Given the description of an element on the screen output the (x, y) to click on. 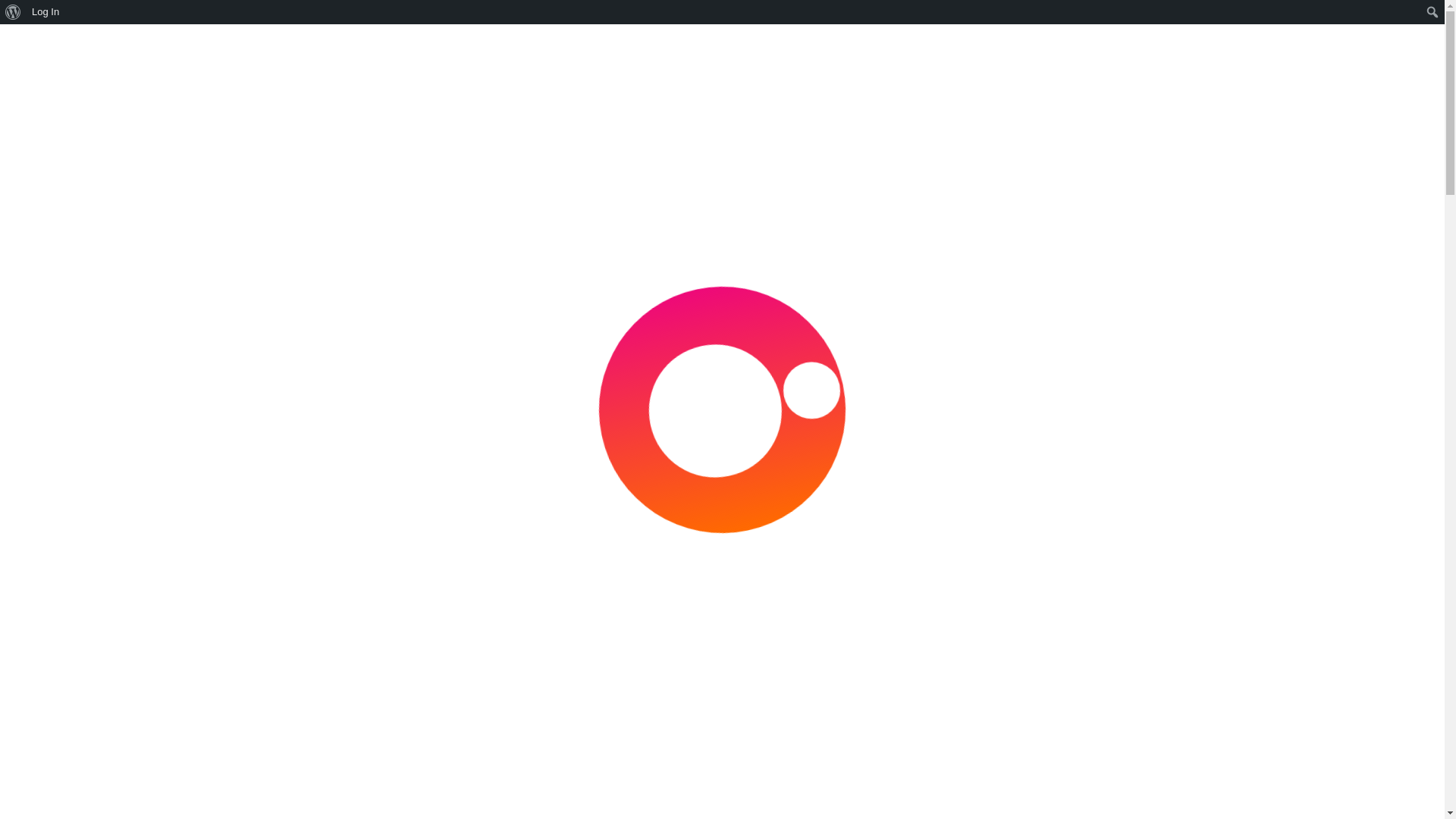
A Potential Disaster in the Emergency Room (354, 386)
Search (15, 12)
Search (797, 409)
FUNNY EXAM ROOM TALES (368, 777)
DISCLAIMER (726, 223)
Subscribe (957, 681)
MAY 5, 2020 (329, 432)
UNBELIEVABLE EXAM ROOM TALES (325, 793)
AUTHOR SCOTT KEMP (501, 223)
CHEST X-RAY (353, 811)
Search (1192, 462)
Exam Room Tales (722, 96)
SUBSCRIBE (937, 223)
Log In (45, 12)
